Given the description of an element on the screen output the (x, y) to click on. 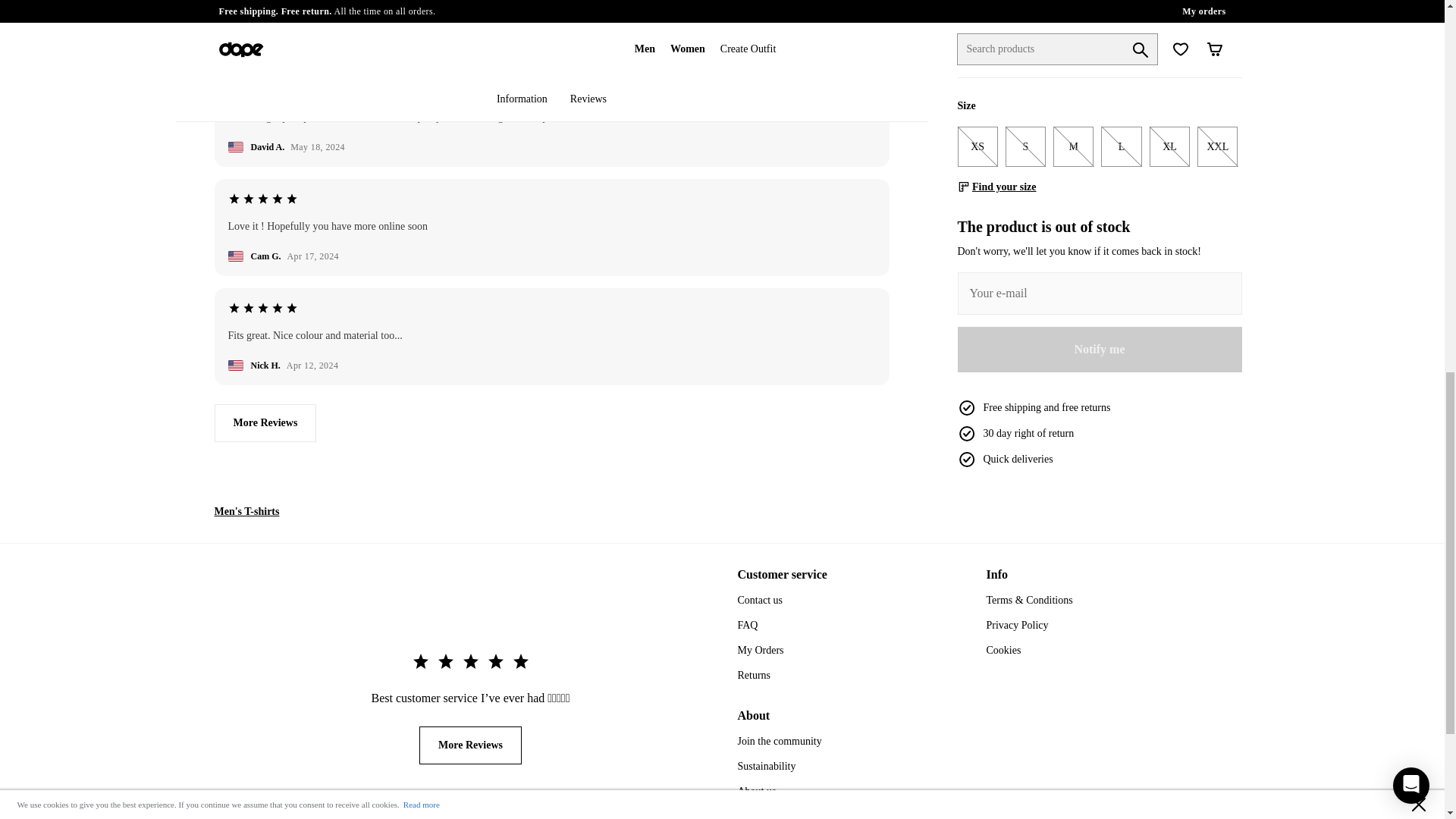
Men's T-shirts (246, 511)
5 stars (262, 88)
Contact us (759, 600)
5 stars (262, 198)
More Reviews (470, 745)
More Reviews (264, 423)
